Given the description of an element on the screen output the (x, y) to click on. 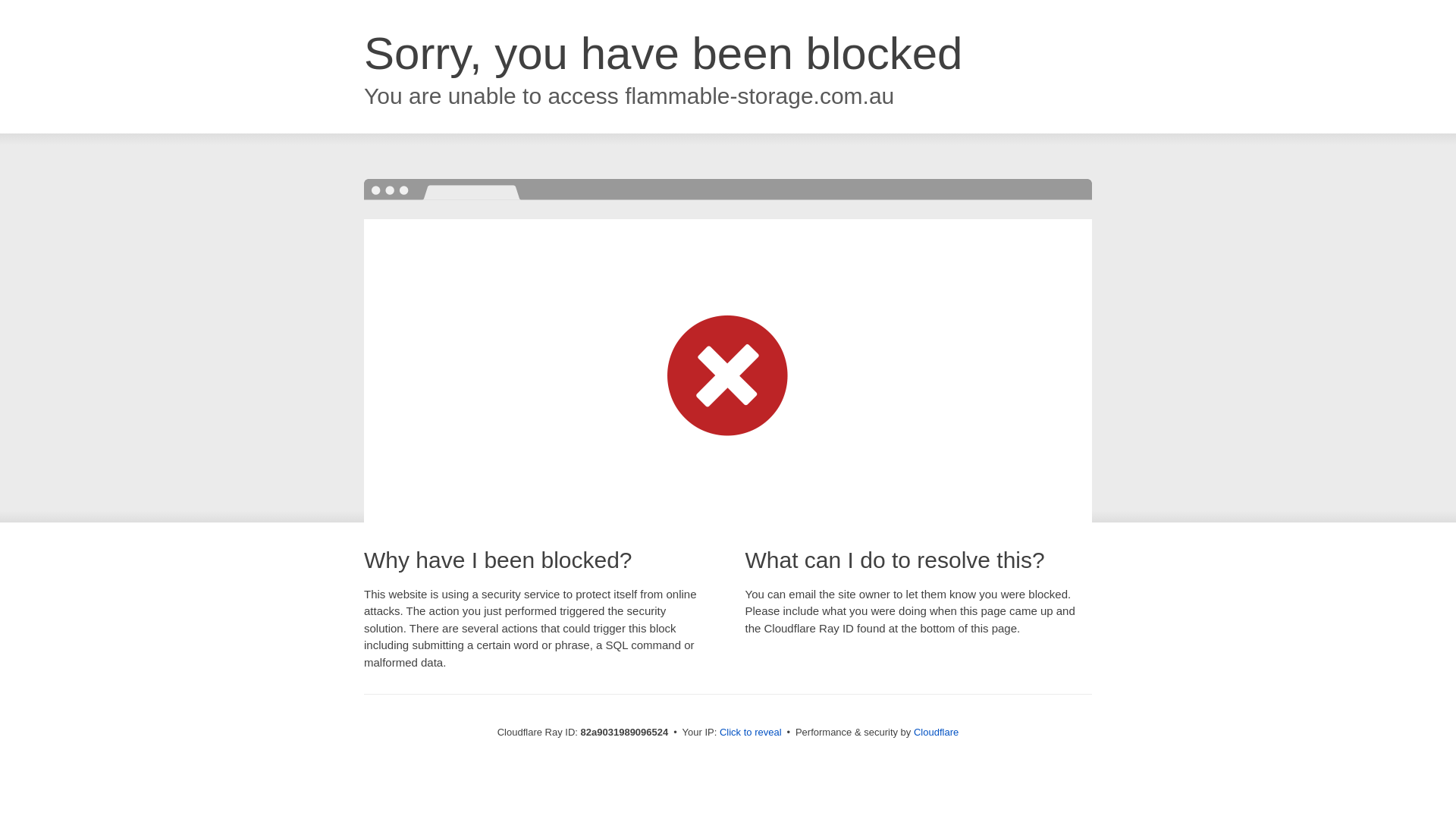
Cloudflare Element type: text (935, 731)
Click to reveal Element type: text (750, 732)
